Given the description of an element on the screen output the (x, y) to click on. 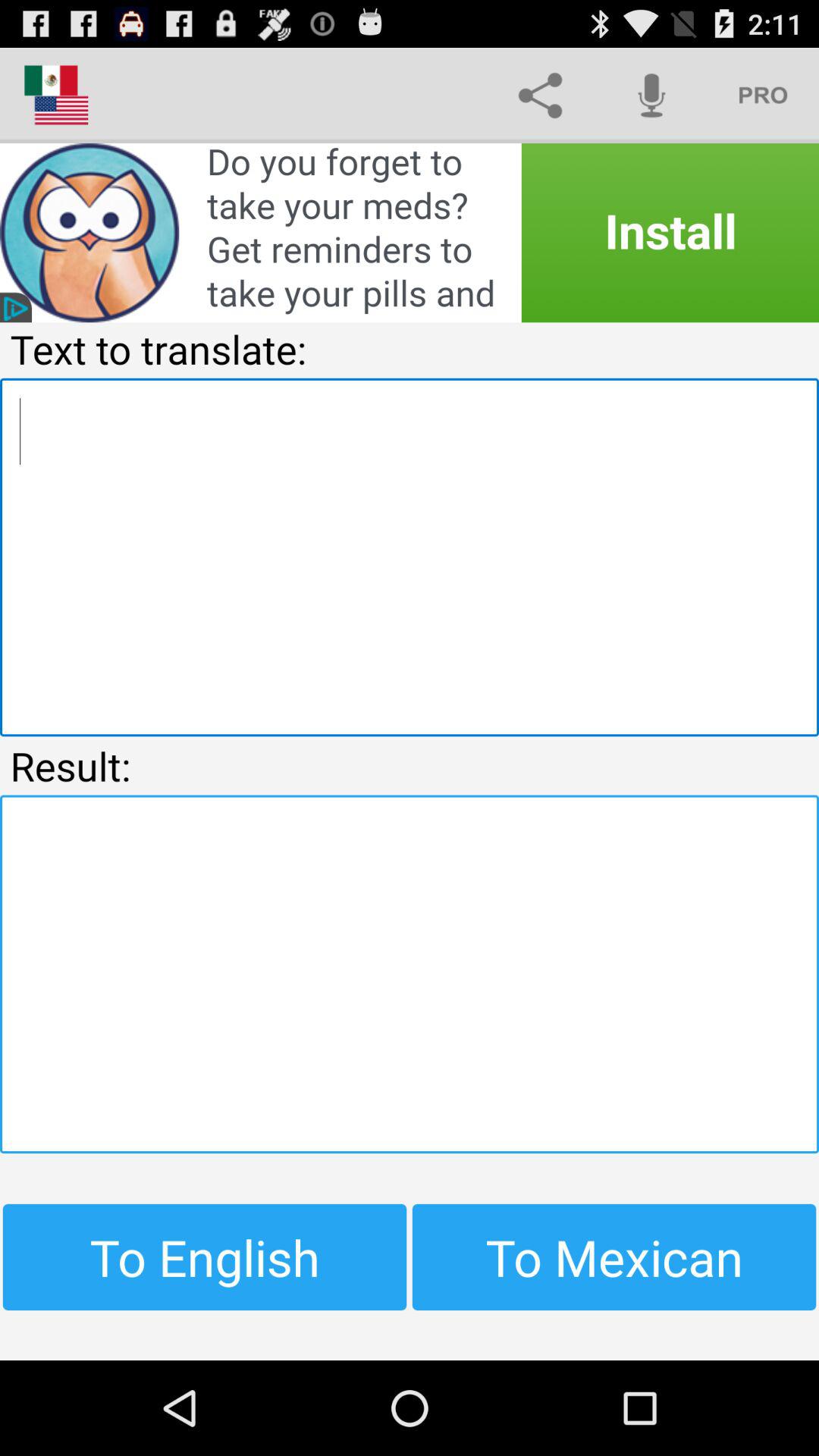
choose the to english (204, 1257)
